Given the description of an element on the screen output the (x, y) to click on. 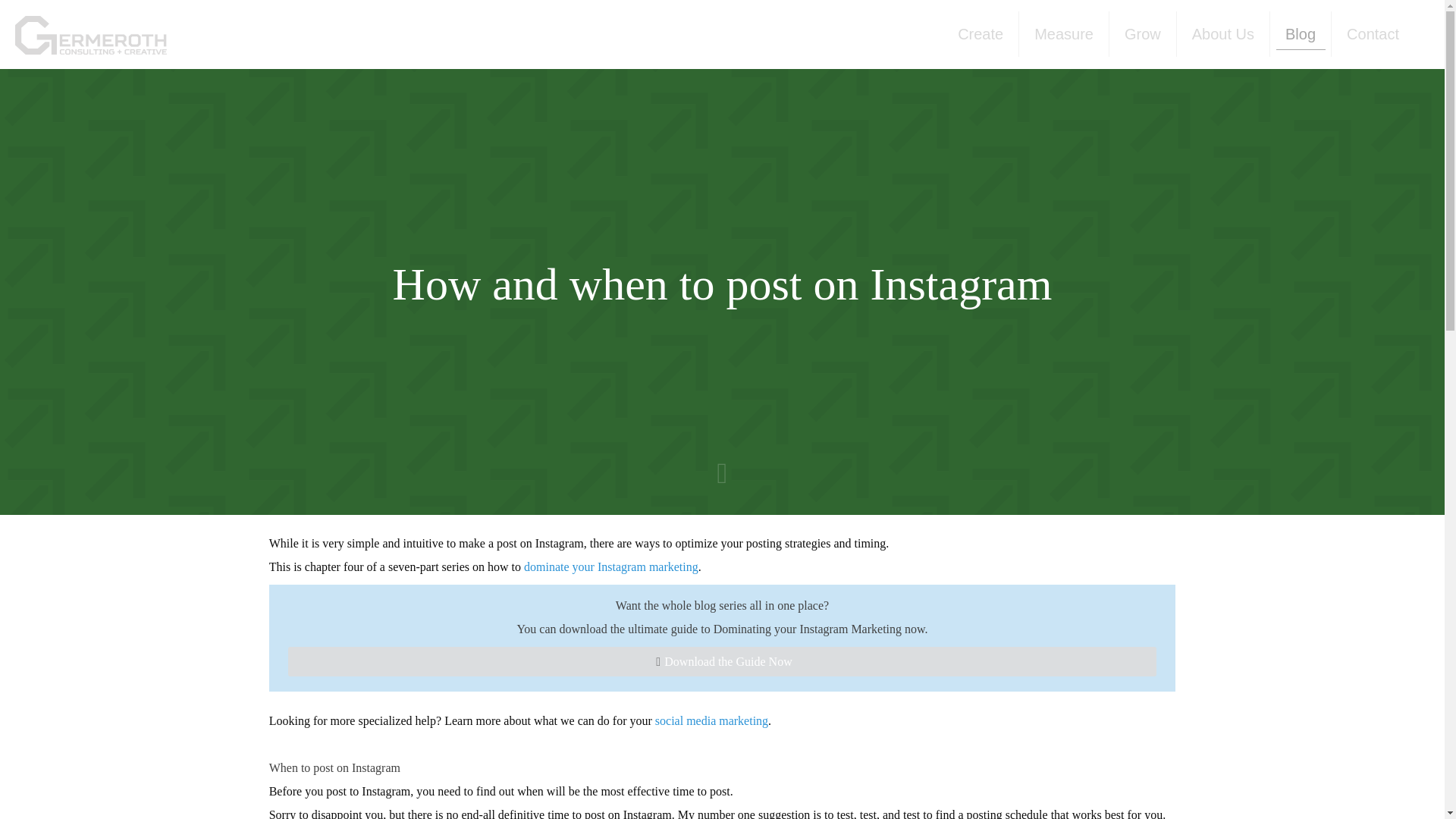
Measure (1064, 33)
Blog (1300, 33)
dominate your Instagram marketing (611, 566)
Grow (1142, 33)
Create (980, 33)
Contact (1372, 33)
Download the Guide Now (722, 661)
social media marketing (711, 720)
About Us (1222, 33)
